Given the description of an element on the screen output the (x, y) to click on. 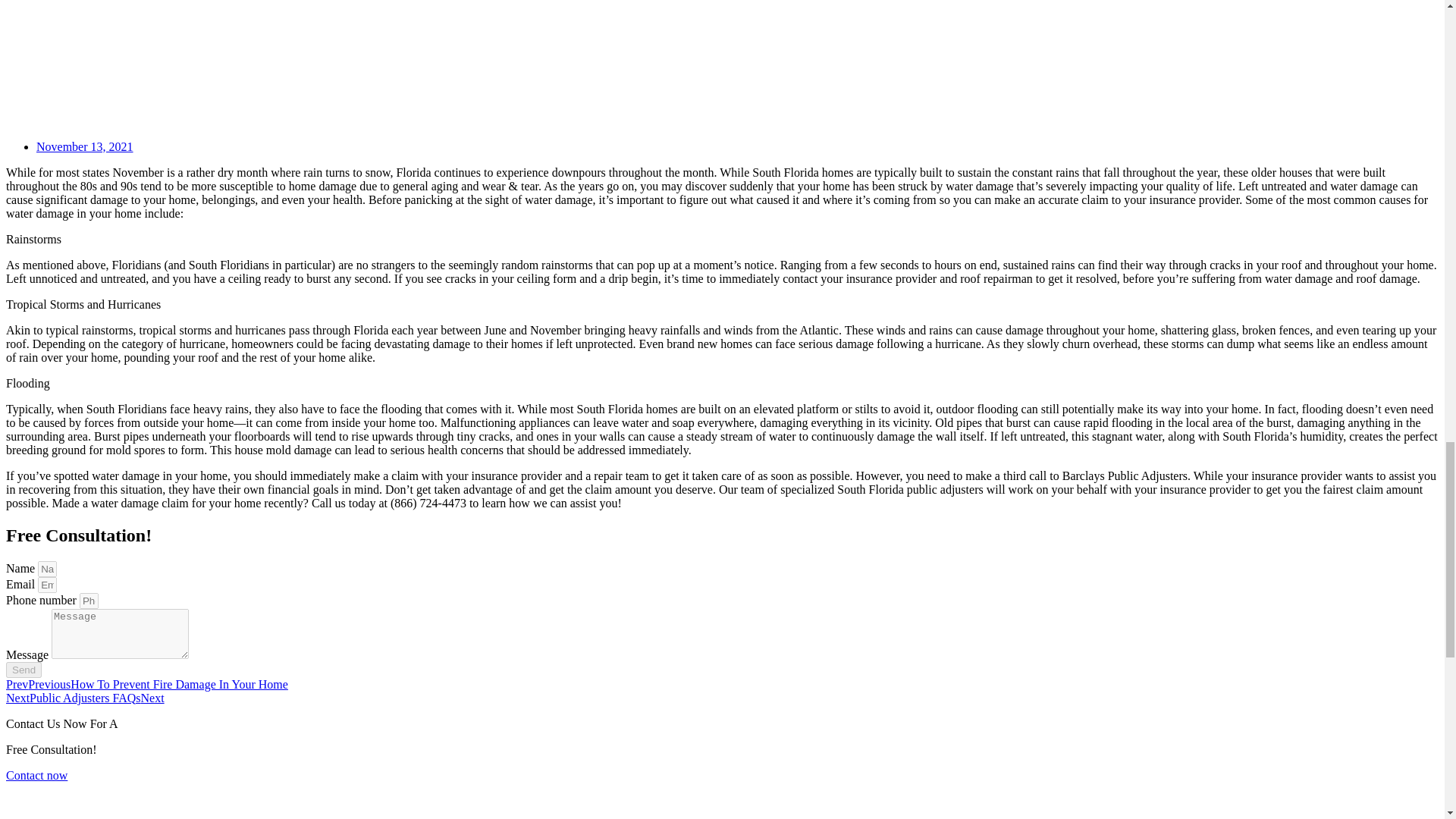
November 13, 2021 (84, 146)
Send (23, 669)
NextPublic Adjusters FAQsNext (84, 697)
PrevPreviousHow To Prevent Fire Damage In Your Home (146, 684)
Contact now (35, 775)
